Given the description of an element on the screen output the (x, y) to click on. 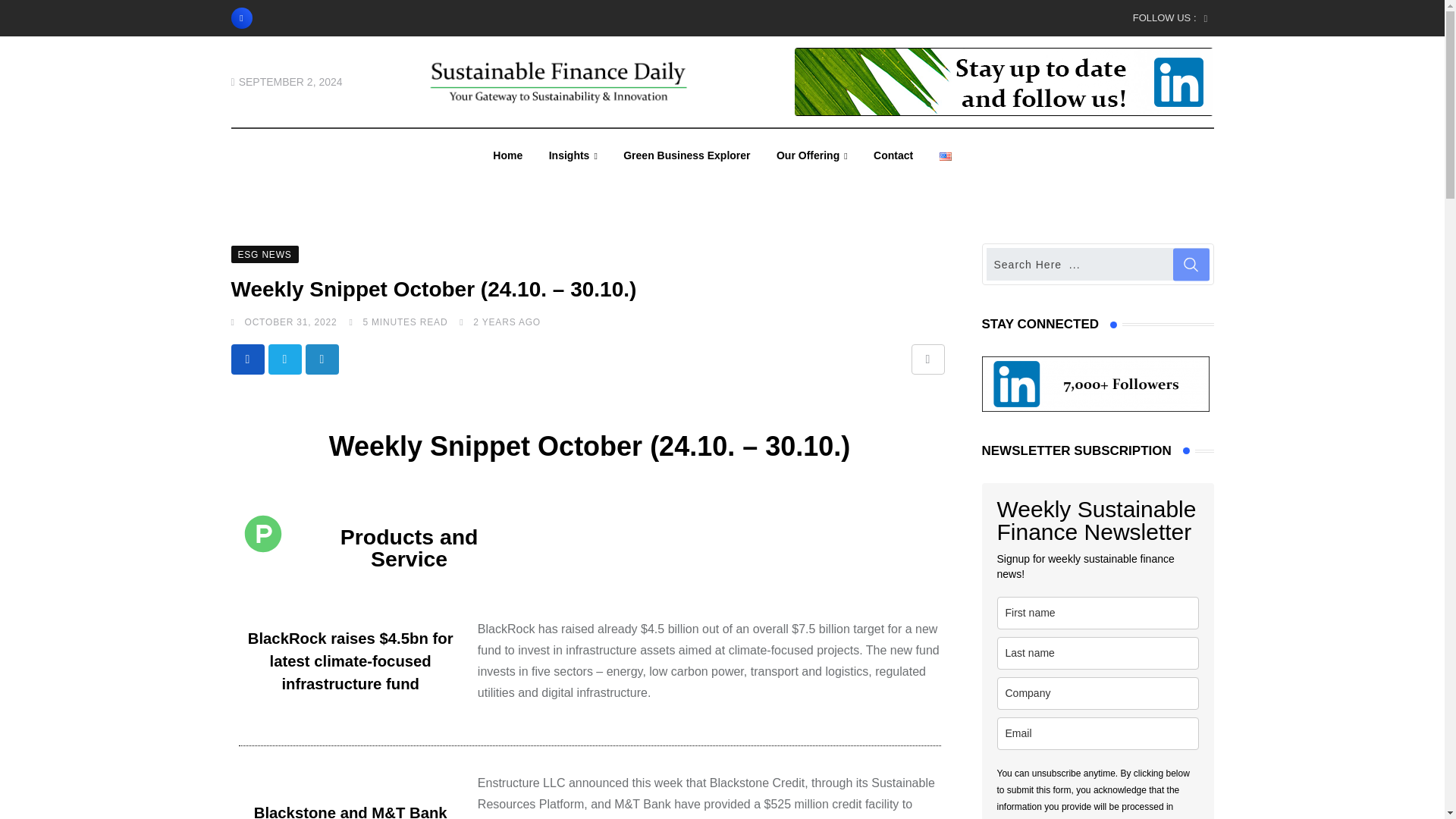
STAY CONNECTED (1094, 383)
Insights (572, 155)
Our Offering (812, 155)
Home (507, 154)
ESG NEWS (264, 253)
Contact (892, 154)
Green Business Explorer (686, 154)
